Given the description of an element on the screen output the (x, y) to click on. 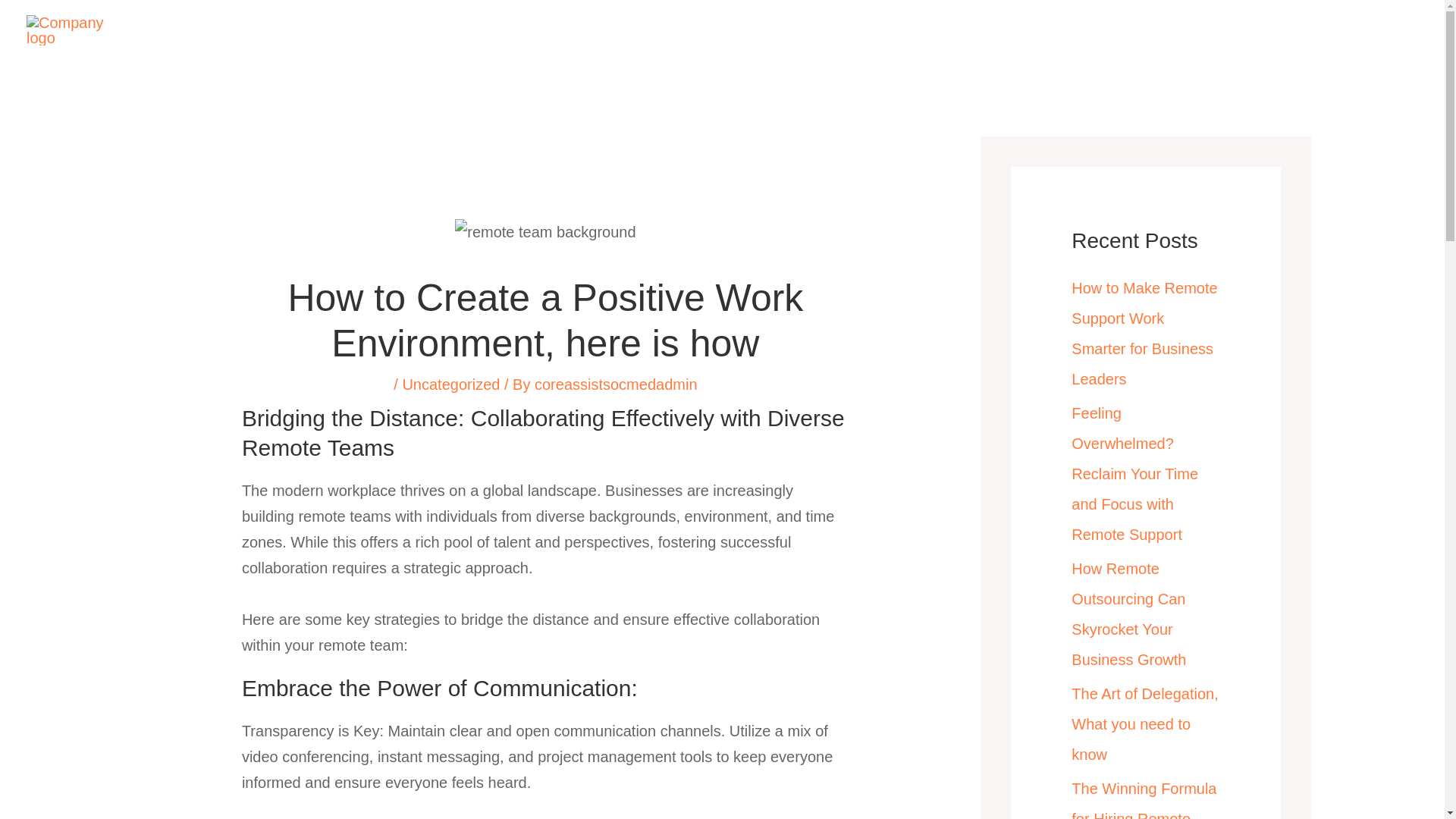
Services (532, 30)
How to Make Remote Support Work Smarter for Business Leaders (1144, 333)
The Art of Delegation, What you need to know (1144, 723)
Pricing (594, 30)
Schedule your free consultation now (1120, 30)
coreassistsocmedadmin (615, 384)
How Remote Outsourcing Can Skyrocket Your Business Growth (1128, 614)
Uncategorized (450, 384)
Our Process (666, 30)
View all posts by coreassistsocmedadmin (615, 384)
Real Estate Services (773, 30)
About (472, 30)
